Given the description of an element on the screen output the (x, y) to click on. 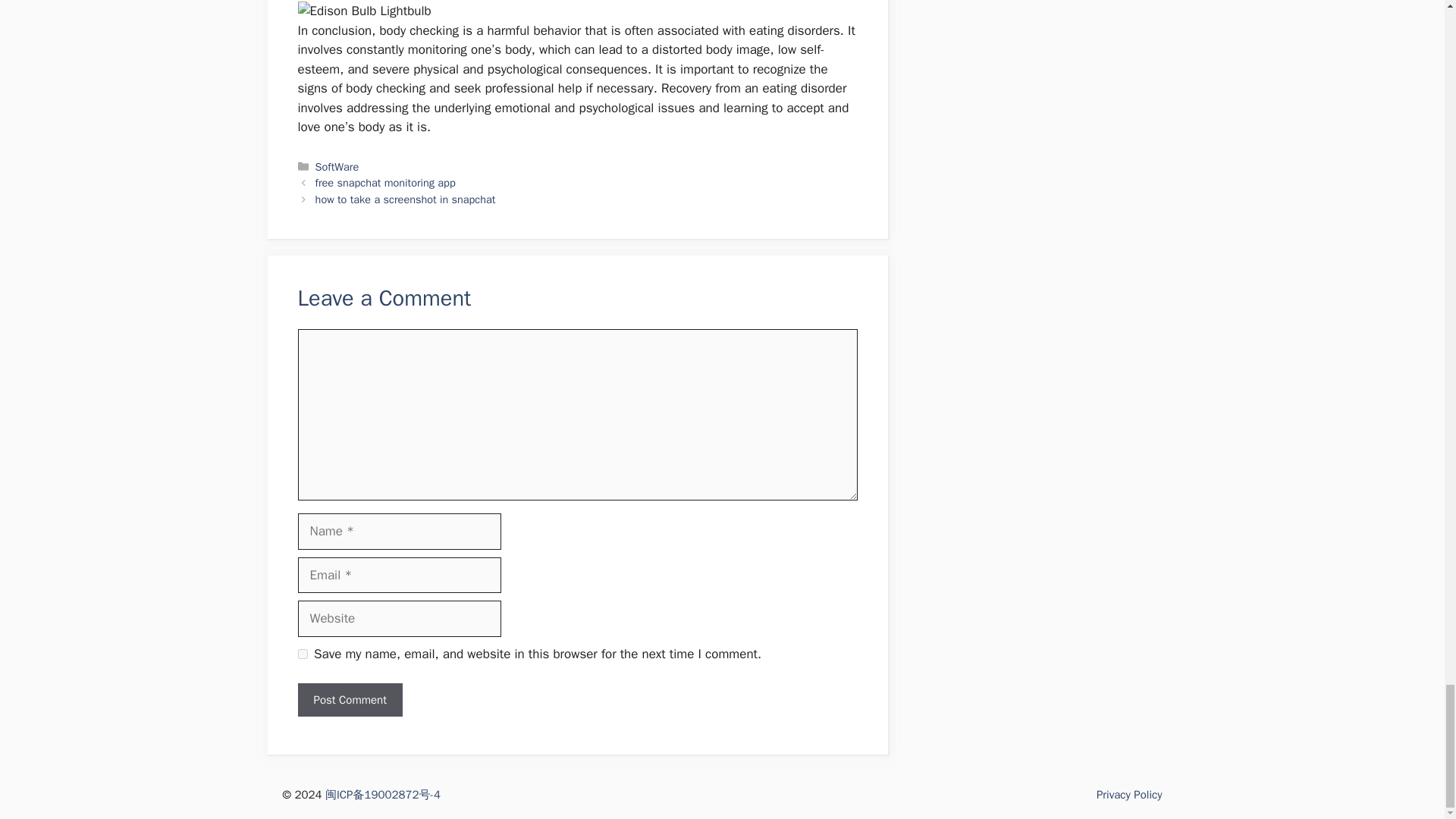
free snapchat monitoring app (385, 182)
Privacy Policy (1128, 794)
Post Comment (349, 700)
SoftWare (337, 166)
how to take a screenshot in snapchat (405, 199)
Post Comment (349, 700)
Edison Bulb Lightbulb (363, 11)
yes (302, 654)
